Given the description of an element on the screen output the (x, y) to click on. 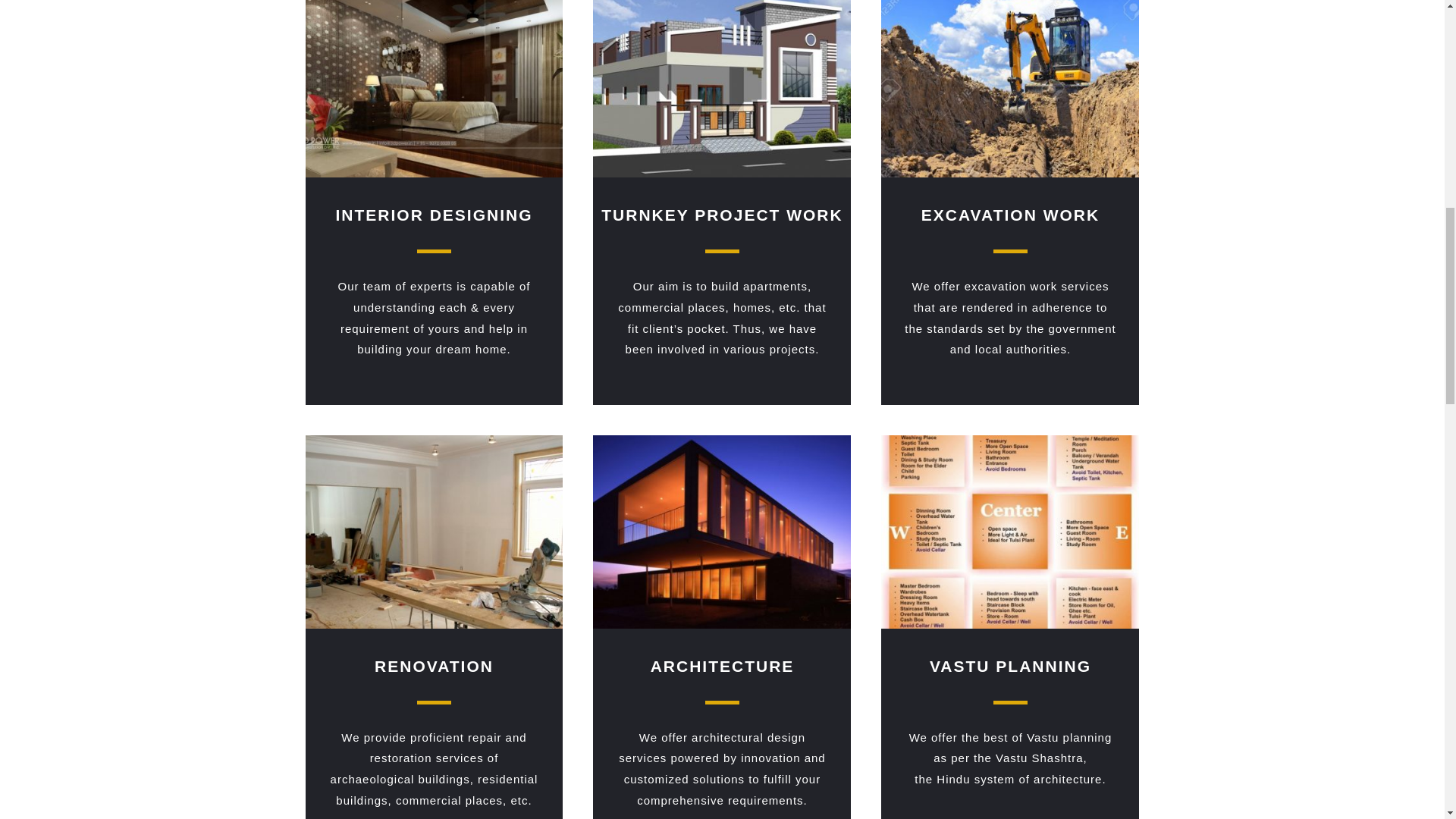
turnkey project (721, 89)
vastu planning (1009, 531)
Complete Architectural Solutions (721, 531)
excavation work (1009, 89)
renovation (433, 531)
interior designing (433, 89)
